Given the description of an element on the screen output the (x, y) to click on. 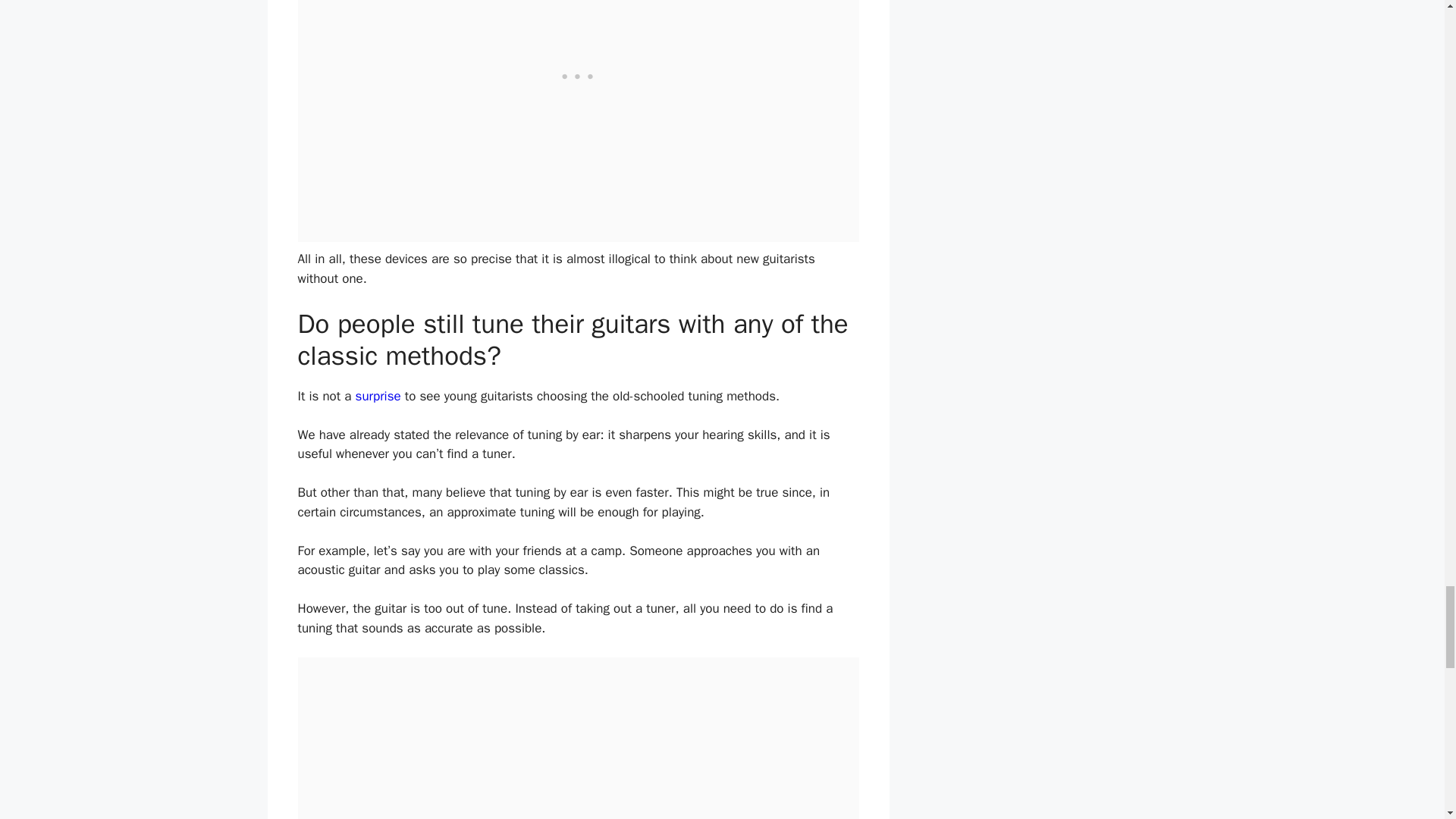
surprise (378, 396)
